Given the description of an element on the screen output the (x, y) to click on. 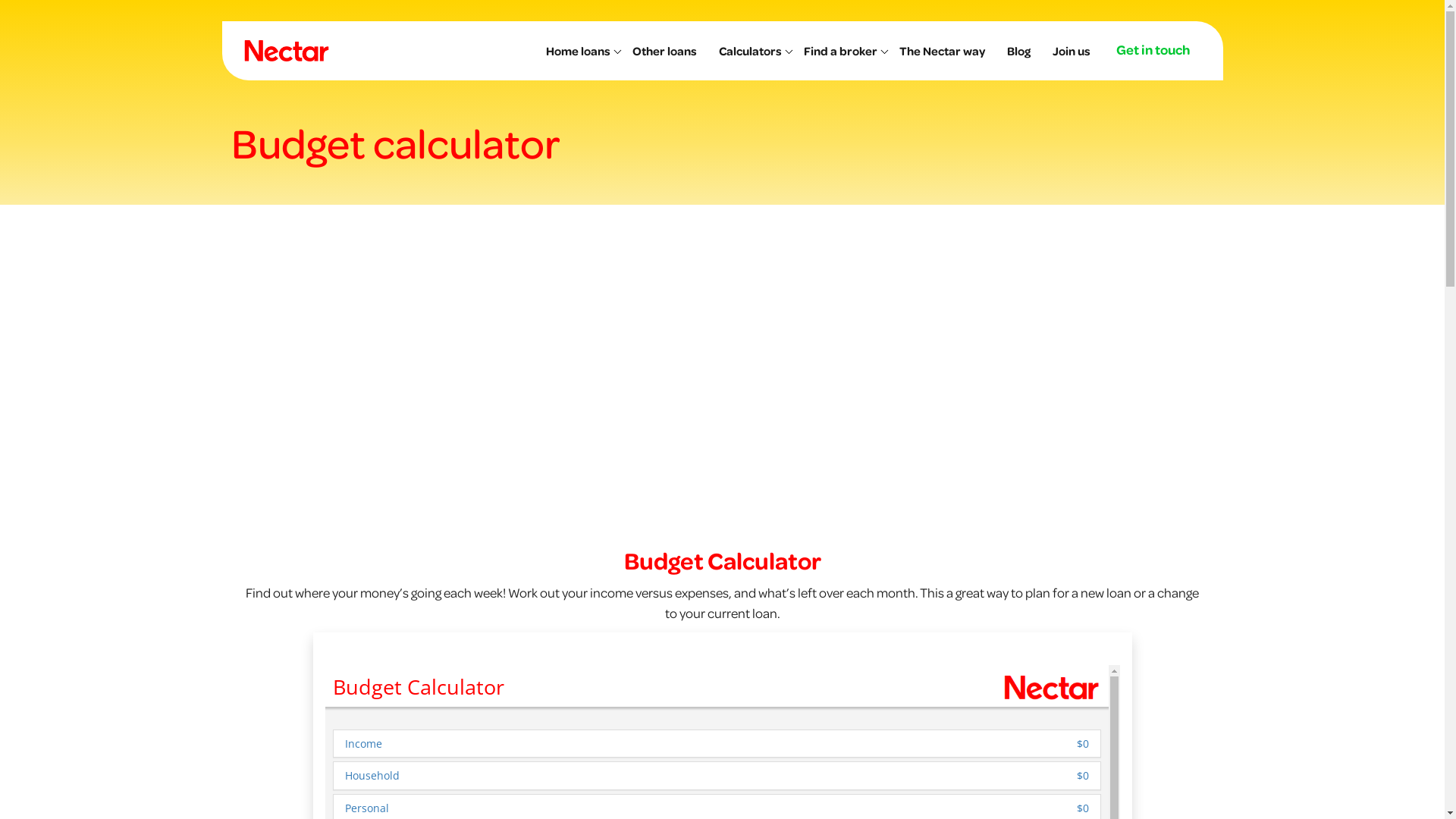
Join us Element type: text (1075, 50)
Calculators Element type: text (753, 50)
Other loans Element type: text (668, 50)
Get in touch Element type: text (1156, 49)
Blog Element type: text (1022, 50)
Find a broker Element type: text (843, 50)
Nectar Mortgages logo Element type: hover (285, 50)
Home loans Element type: text (582, 50)
The Nectar way Element type: text (945, 50)
